Given the description of an element on the screen output the (x, y) to click on. 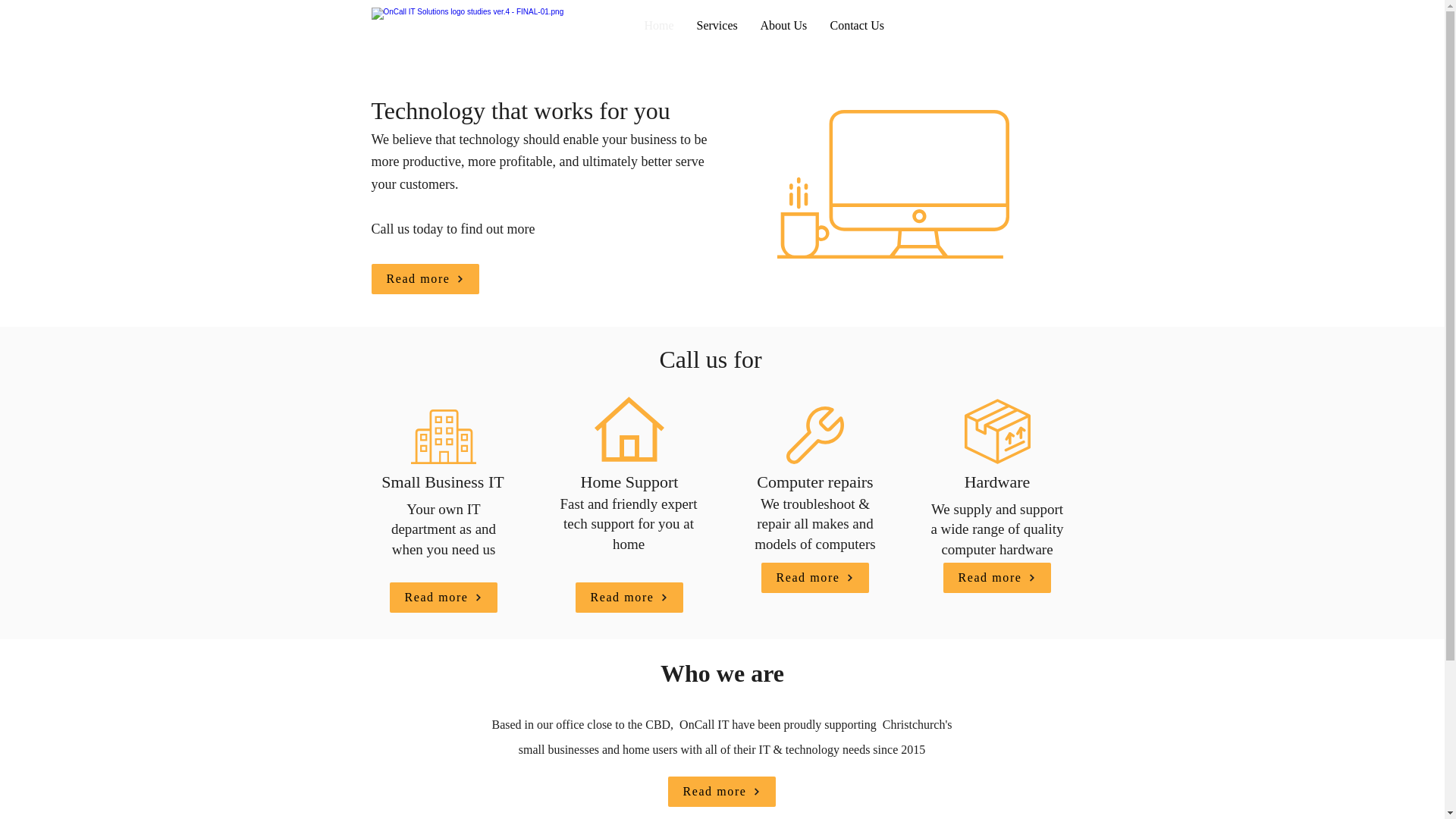
Read more (443, 597)
About Us (783, 25)
Contact Us (857, 25)
Read more (425, 278)
Read more (997, 577)
Read more (720, 791)
Read more (815, 577)
Read more (628, 597)
Home (657, 25)
